Given the description of an element on the screen output the (x, y) to click on. 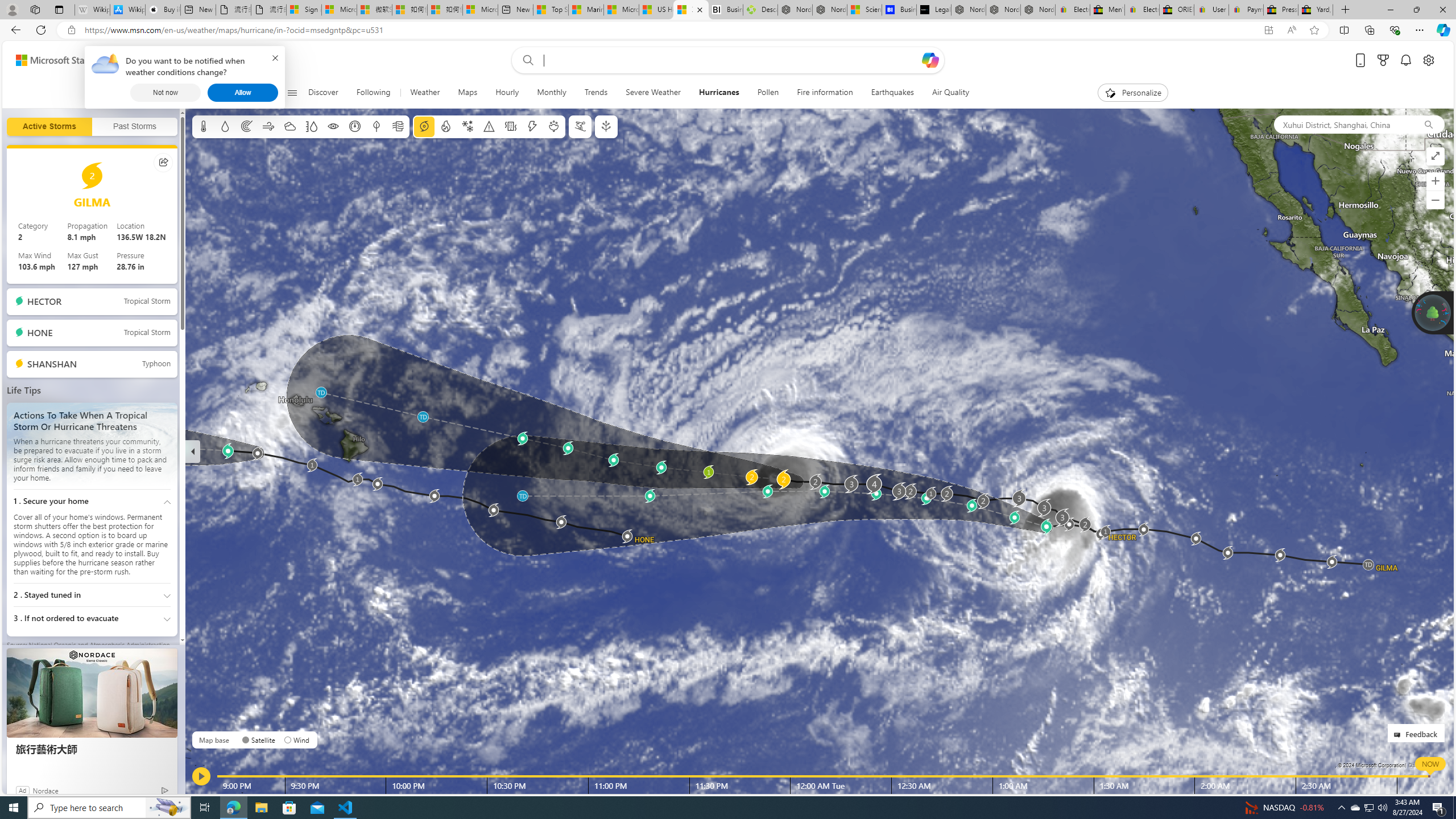
Earthquake (510, 126)
Dew point (376, 126)
Lightning (532, 126)
Join us in planting real trees to help our planet! (1431, 312)
Temperature (203, 126)
Class: feedback_link_icon-DS-EntryPoint1-1 (1399, 734)
